Given the description of an element on the screen output the (x, y) to click on. 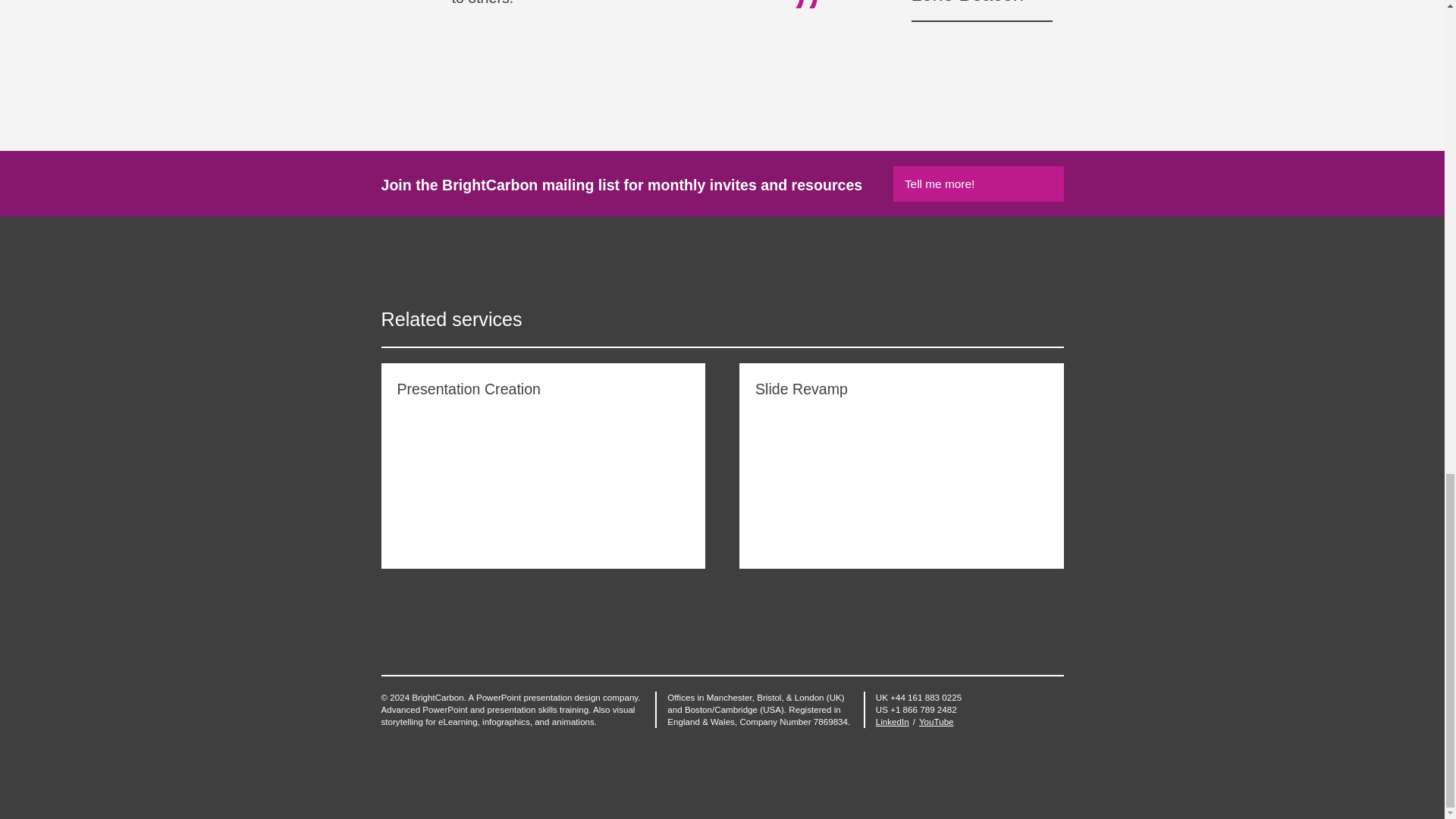
YouTube (935, 721)
Presentation Creation (542, 465)
Slide Revamp (901, 465)
LinkedIn (892, 721)
Tell me more! (978, 183)
